Given the description of an element on the screen output the (x, y) to click on. 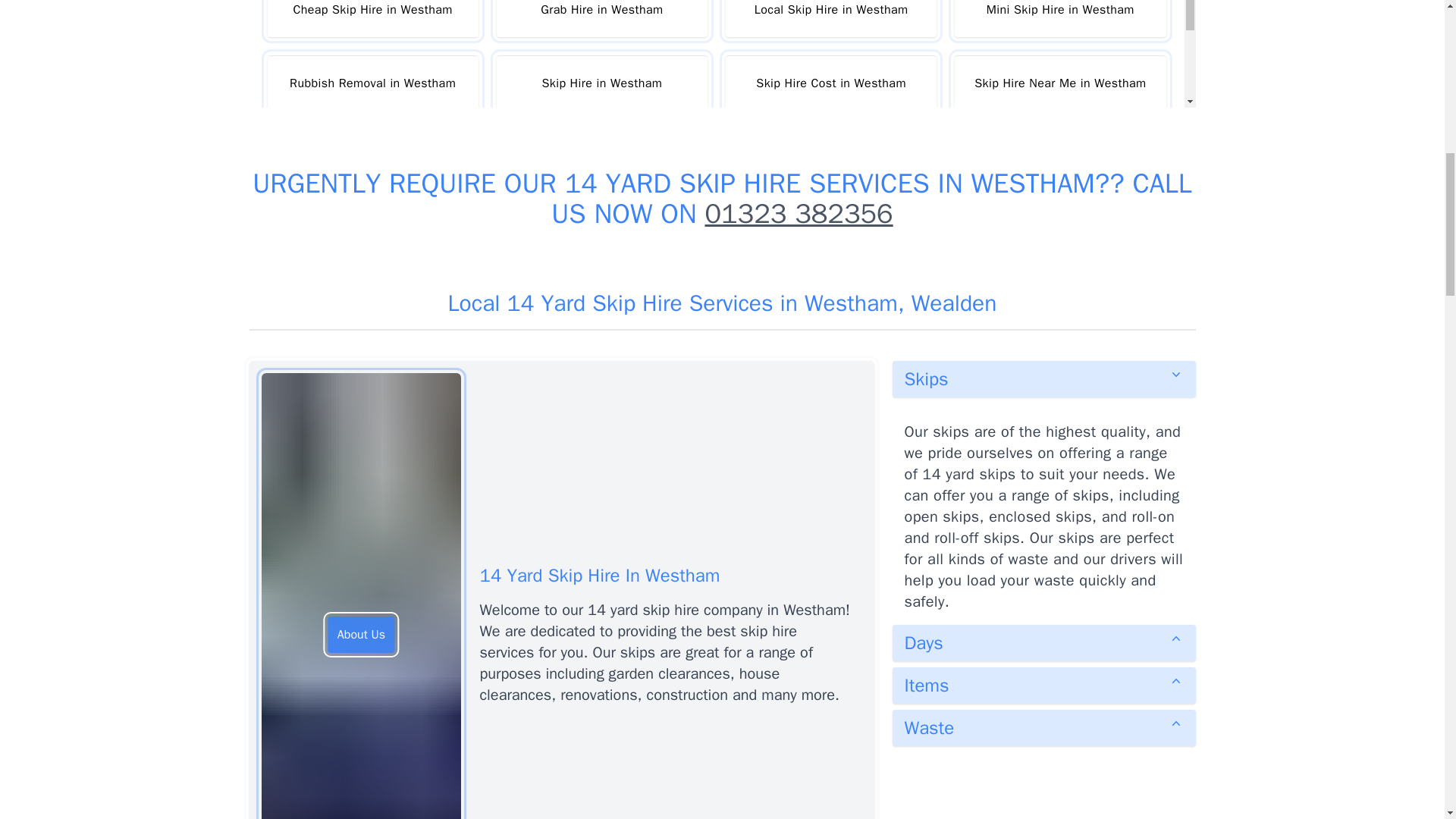
About Us (361, 634)
Skips (1043, 379)
Waste (1043, 728)
Local Skip Hire in Westham (830, 18)
01323 382356 (798, 213)
Skip Hire Near Me in Westham (1060, 82)
Grab Hire in Westham (601, 18)
Mini Skip Hire in Westham (1060, 18)
Skip Hire Prices in Westham (371, 156)
Skip Hire Cost in Westham (830, 82)
